Given the description of an element on the screen output the (x, y) to click on. 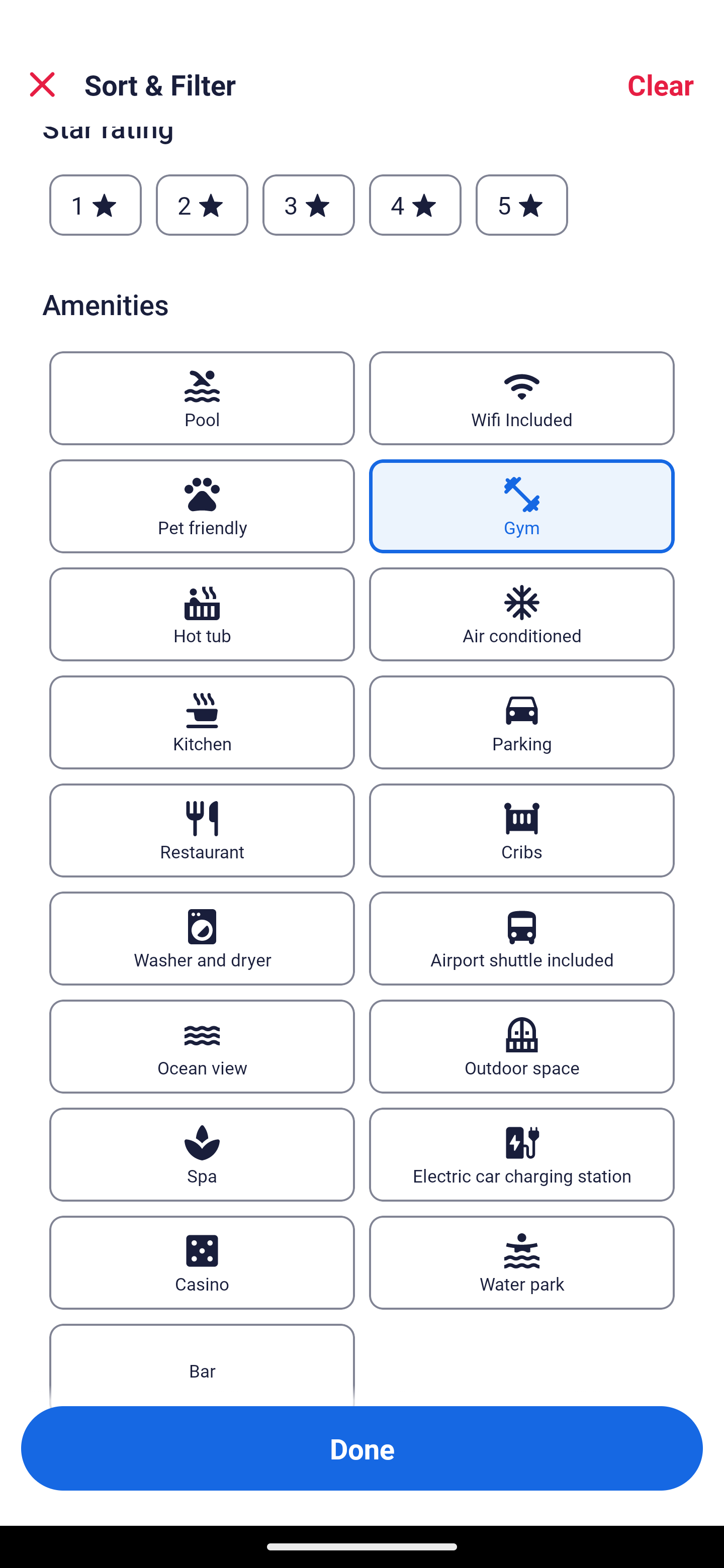
Close Sort and Filter (42, 84)
Clear (660, 84)
1 (95, 205)
2 (201, 205)
3 (308, 205)
4 (415, 205)
5 (521, 205)
Pool (201, 398)
Wifi Included (521, 398)
Pet friendly (201, 506)
Gym (521, 506)
Hot tub (201, 614)
Air conditioned (521, 614)
Kitchen (201, 722)
Parking (521, 722)
Restaurant (201, 831)
Cribs (521, 831)
Washer and dryer (201, 939)
Airport shuttle included (521, 939)
Ocean view (201, 1046)
Outdoor space (521, 1046)
Spa (201, 1154)
Electric car charging station (521, 1154)
Casino (201, 1262)
Water park (521, 1262)
Bar (201, 1364)
Apply and close Sort and Filter Done (361, 1448)
